Given the description of an element on the screen output the (x, y) to click on. 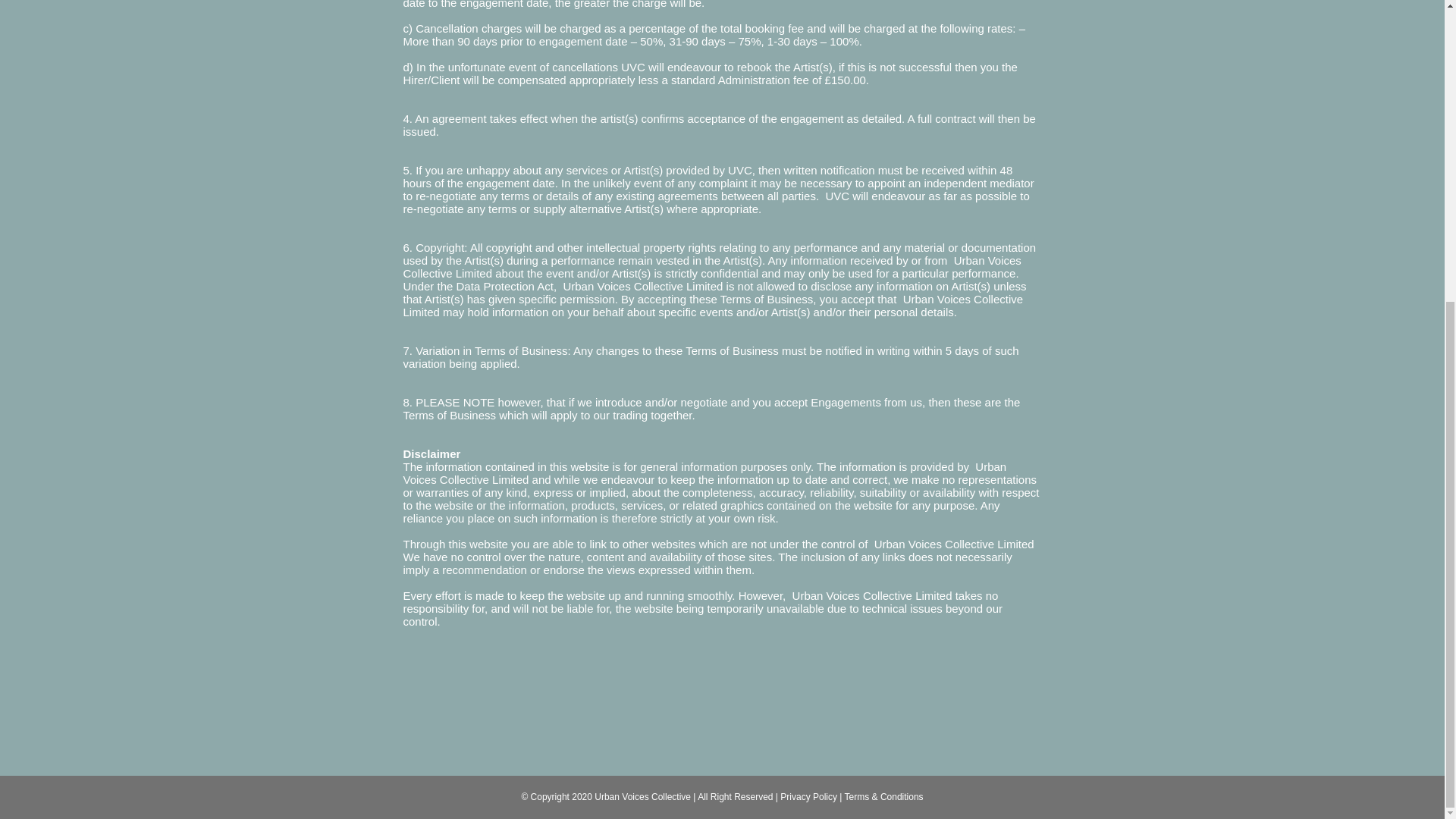
Privacy Policy (808, 796)
